Given the description of an element on the screen output the (x, y) to click on. 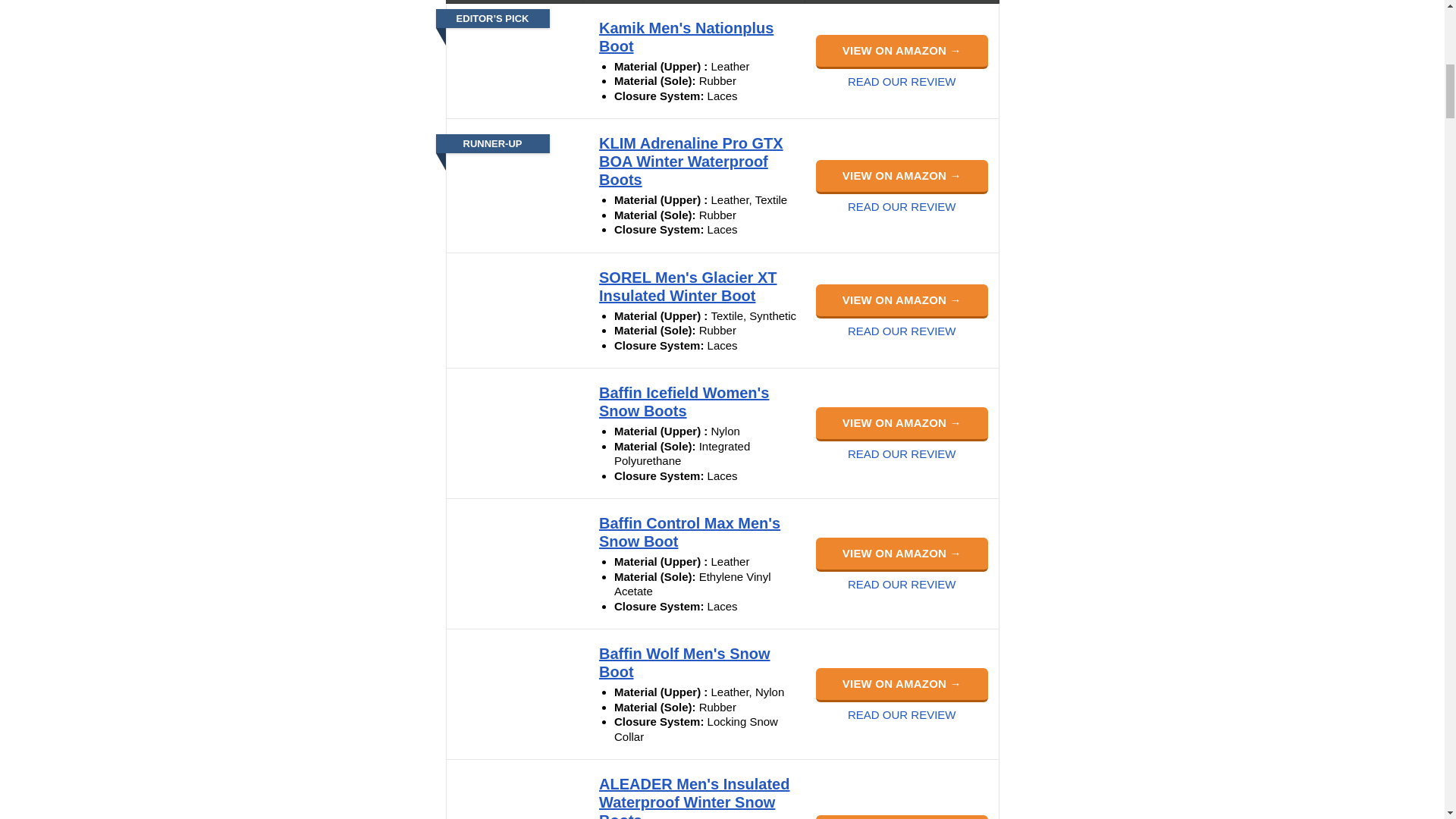
SOREL Men's Glacier XT Insulated Winter Boot (687, 286)
Baffin Wolf Men's Snow Boot (684, 662)
READ OUR REVIEW (901, 453)
READ OUR REVIEW (901, 205)
Kamik Men's Nationplus Boot (685, 36)
READ OUR REVIEW (901, 81)
READ OUR REVIEW (901, 584)
READ OUR REVIEW (901, 714)
READ OUR REVIEW (901, 330)
Baffin Control Max Men's Snow Boot (689, 532)
